Given the description of an element on the screen output the (x, y) to click on. 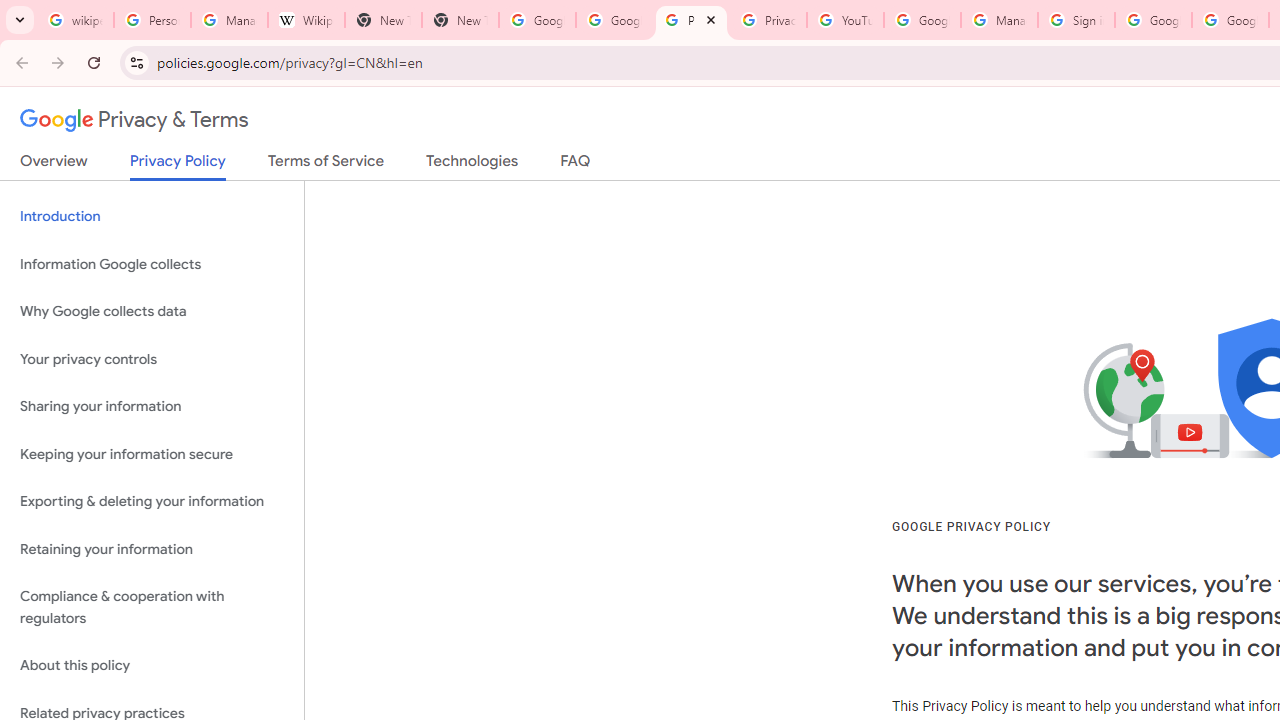
New Tab (383, 20)
Google Account Help (922, 20)
